Given the description of an element on the screen output the (x, y) to click on. 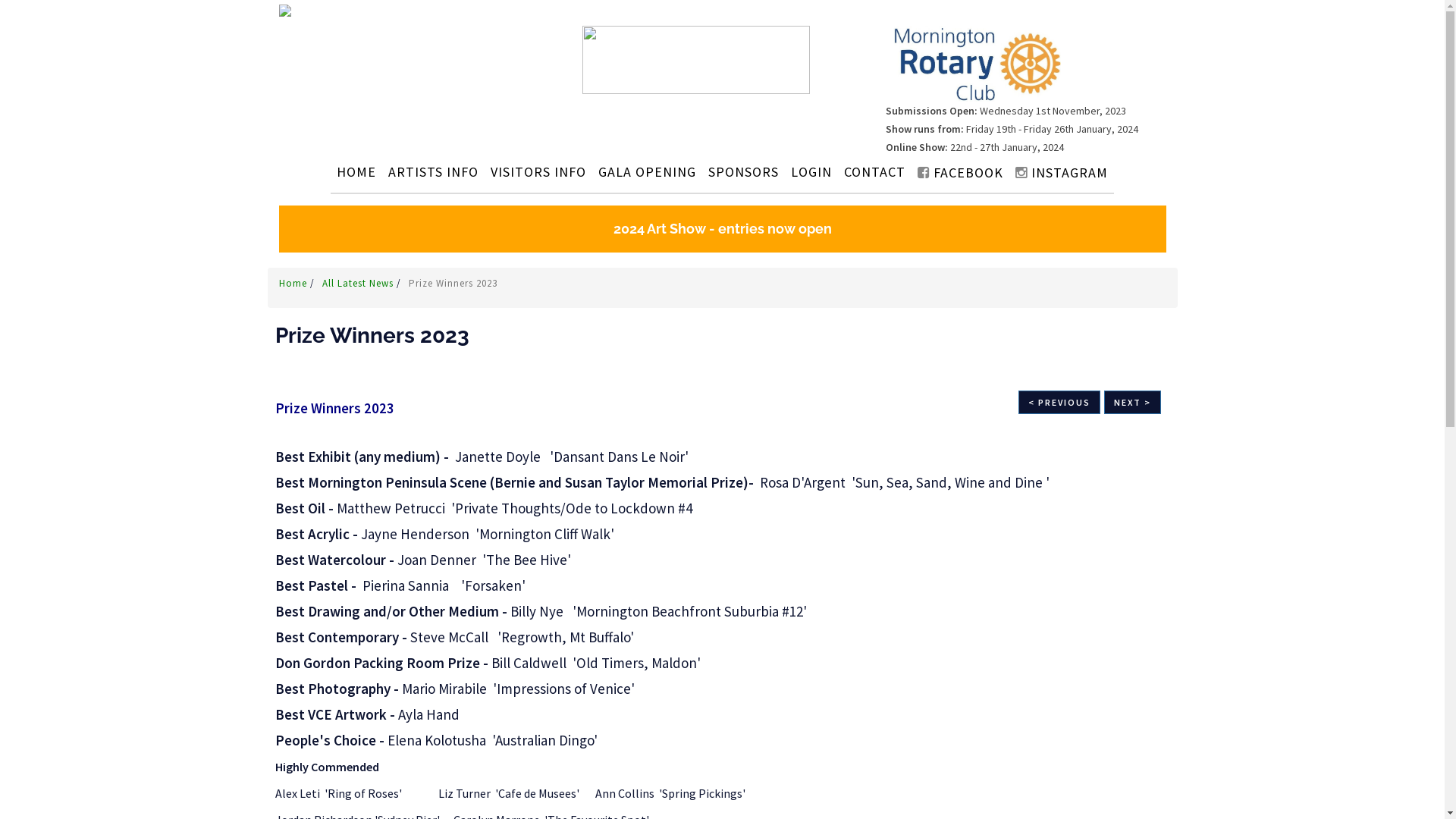
LOGIN Element type: text (811, 171)
Home Element type: text (294, 282)
INSTAGRAM Element type: text (1061, 172)
GALA OPENING Element type: text (646, 171)
HOME Element type: text (355, 171)
FACEBOOK Element type: text (960, 172)
CONTACT Element type: text (874, 171)
NEXT > Element type: text (1132, 402)
< PREVIOUS Element type: text (1058, 402)
ARTISTS INFO Element type: text (433, 171)
VISITORS INFO Element type: text (537, 171)
SPONSORS Element type: text (743, 171)
2024 Art Show - entries now open Element type: text (722, 228)
All Latest News Element type: text (358, 282)
